Given the description of an element on the screen output the (x, y) to click on. 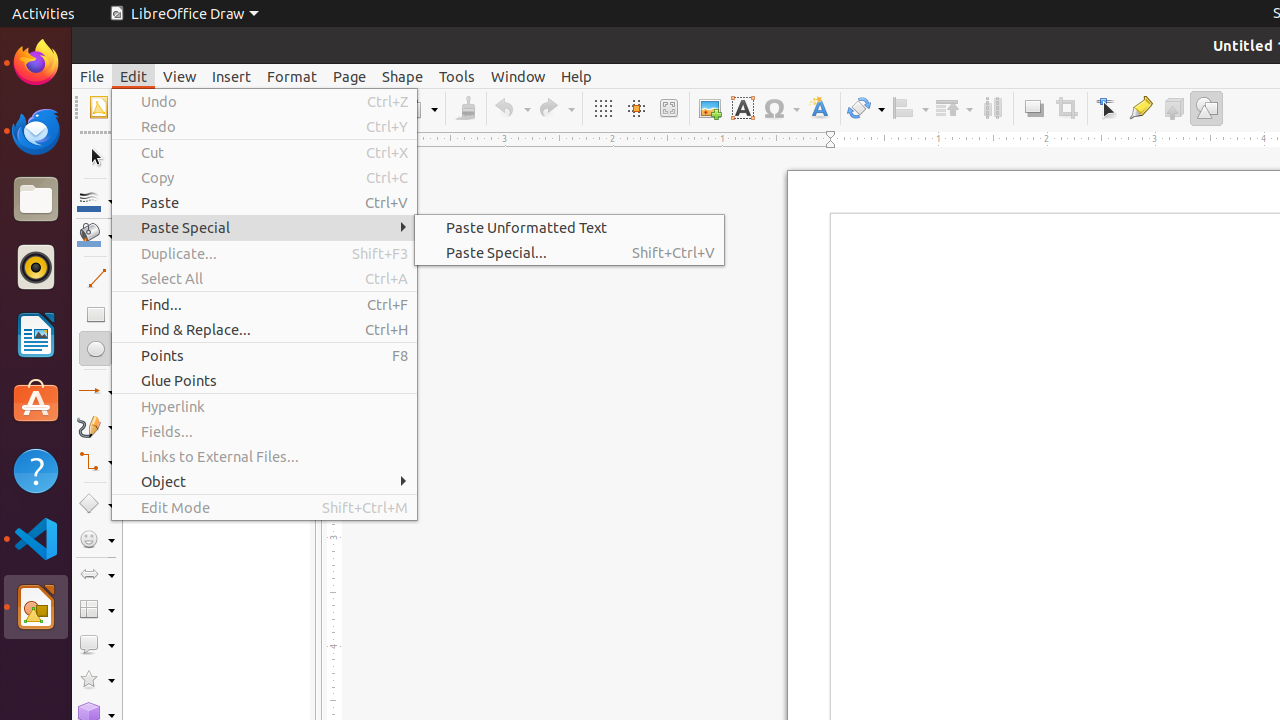
Shadow Element type: toggle-button (1033, 108)
Redo Element type: push-button (556, 108)
Grid Element type: toggle-button (602, 108)
Select All Element type: menu-item (264, 278)
